Given the description of an element on the screen output the (x, y) to click on. 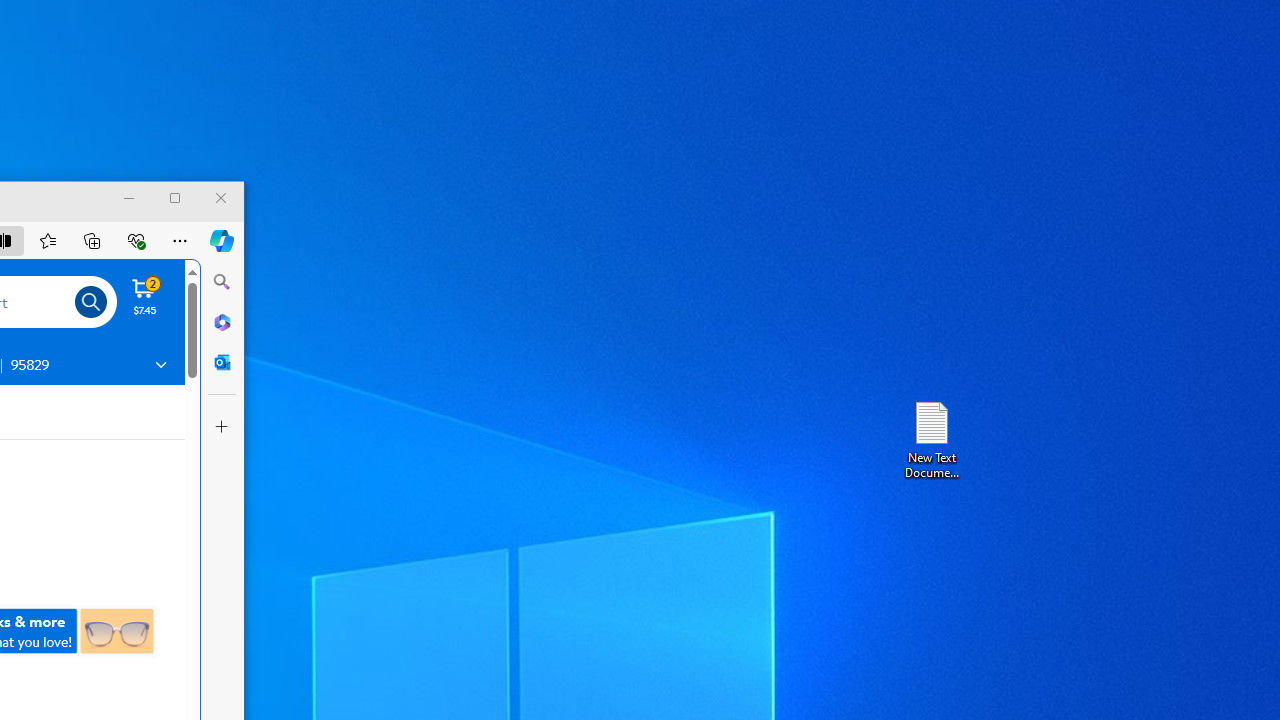
New Text Document (2) (931, 438)
